Given the description of an element on the screen output the (x, y) to click on. 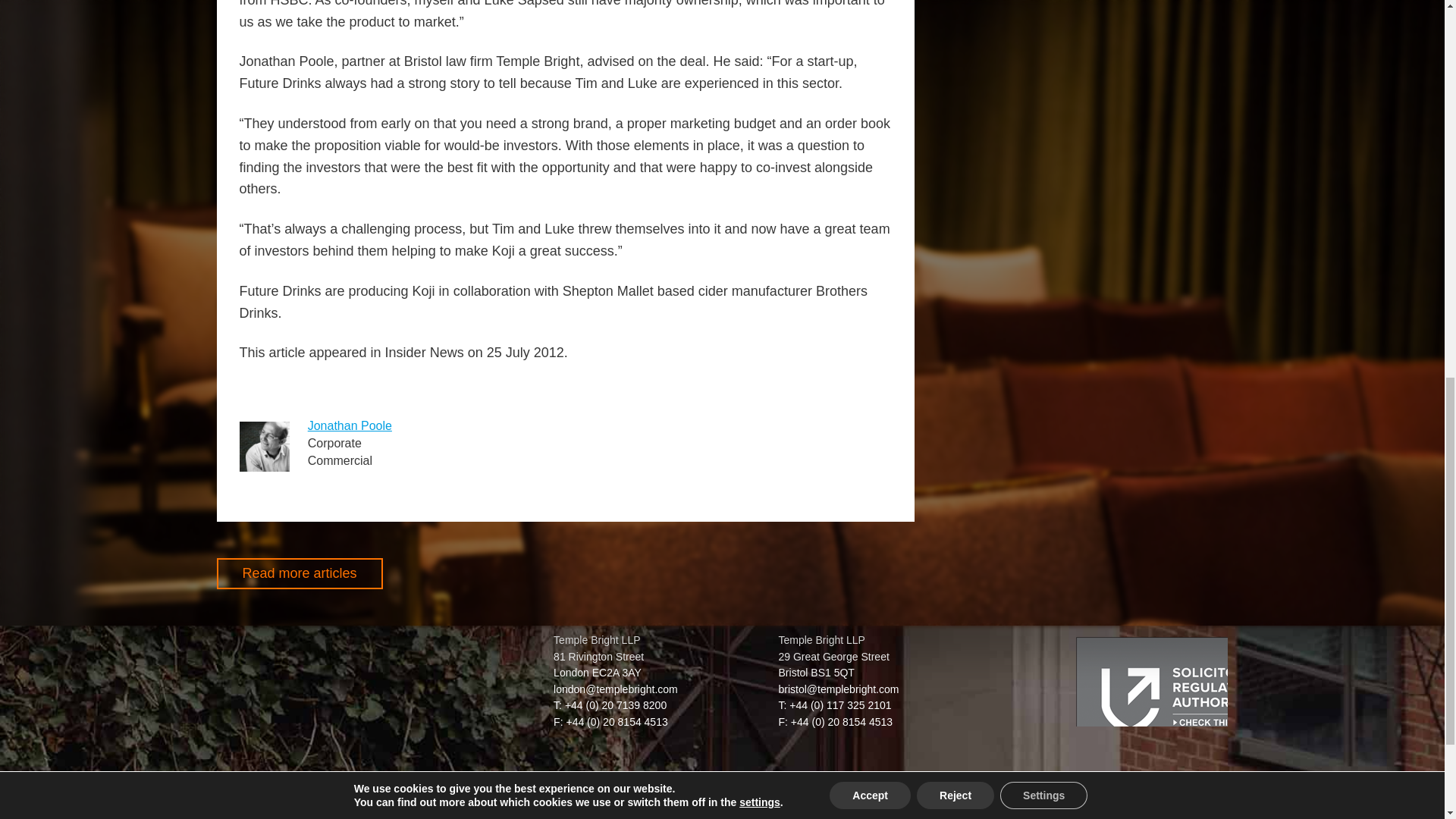
Jonathan Poole (349, 425)
Read more articles (299, 572)
